Given the description of an element on the screen output the (x, y) to click on. 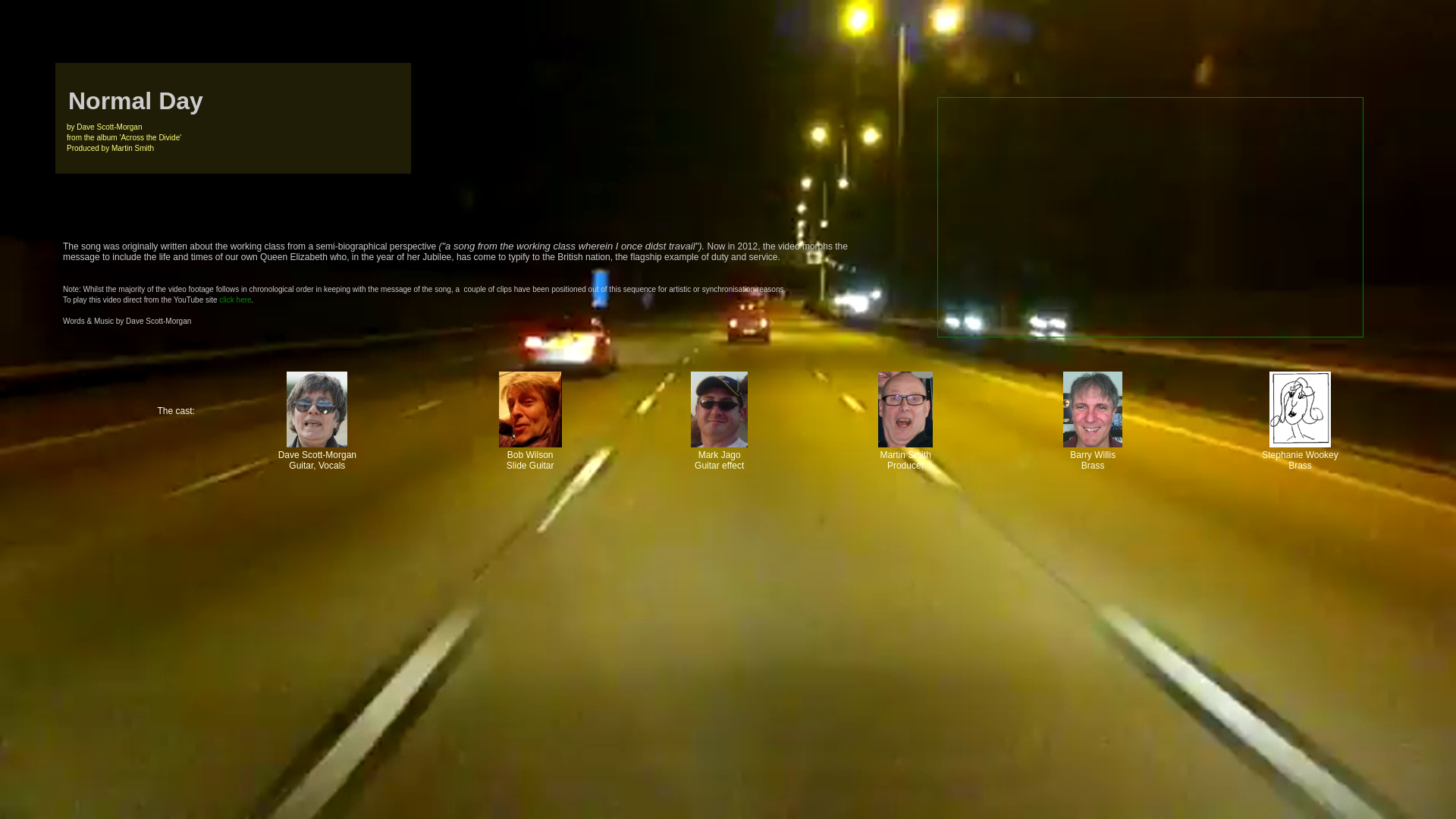
click here Element type: text (235, 299)
